Given the description of an element on the screen output the (x, y) to click on. 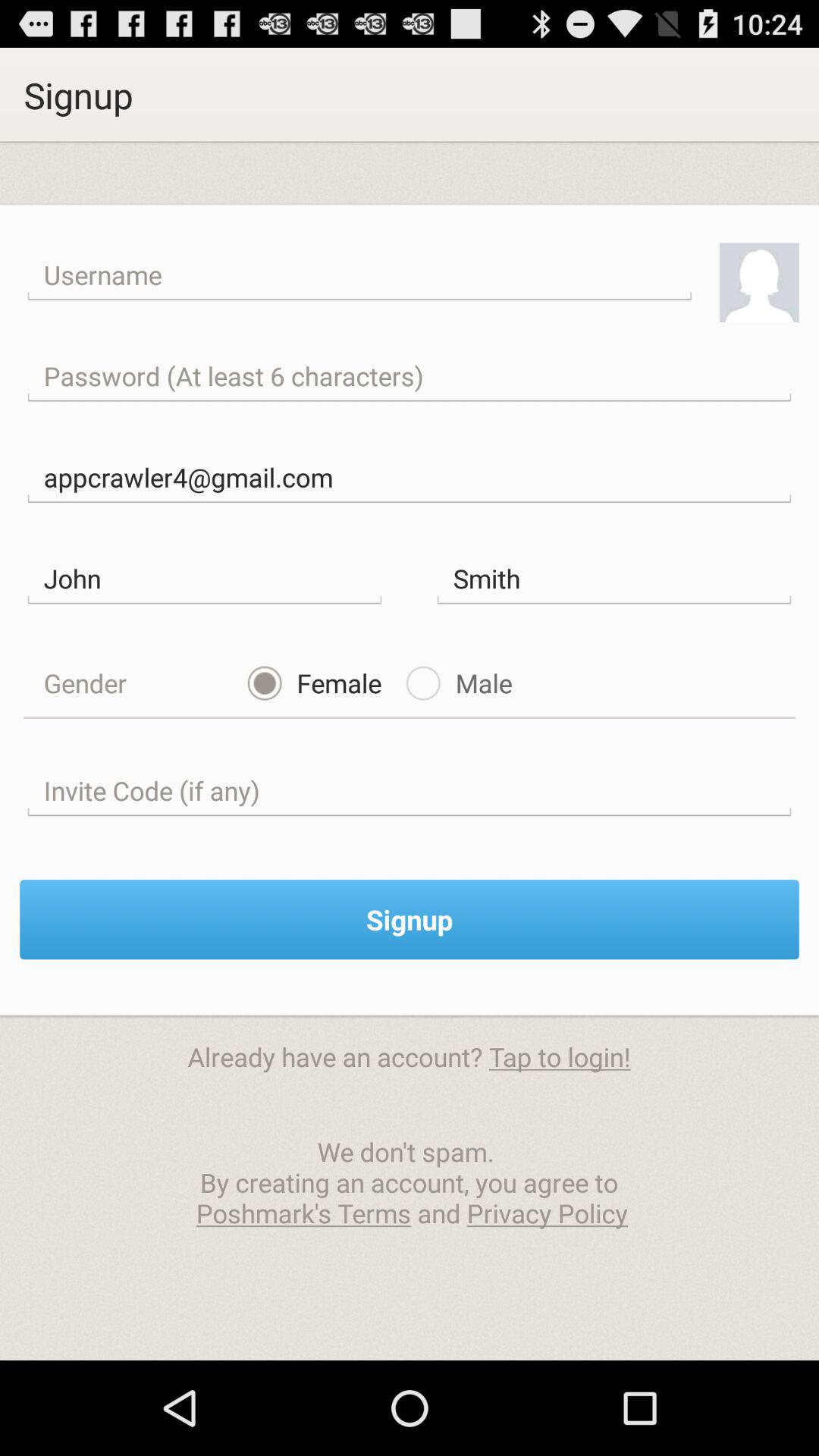
add profile picture (759, 282)
